Given the description of an element on the screen output the (x, y) to click on. 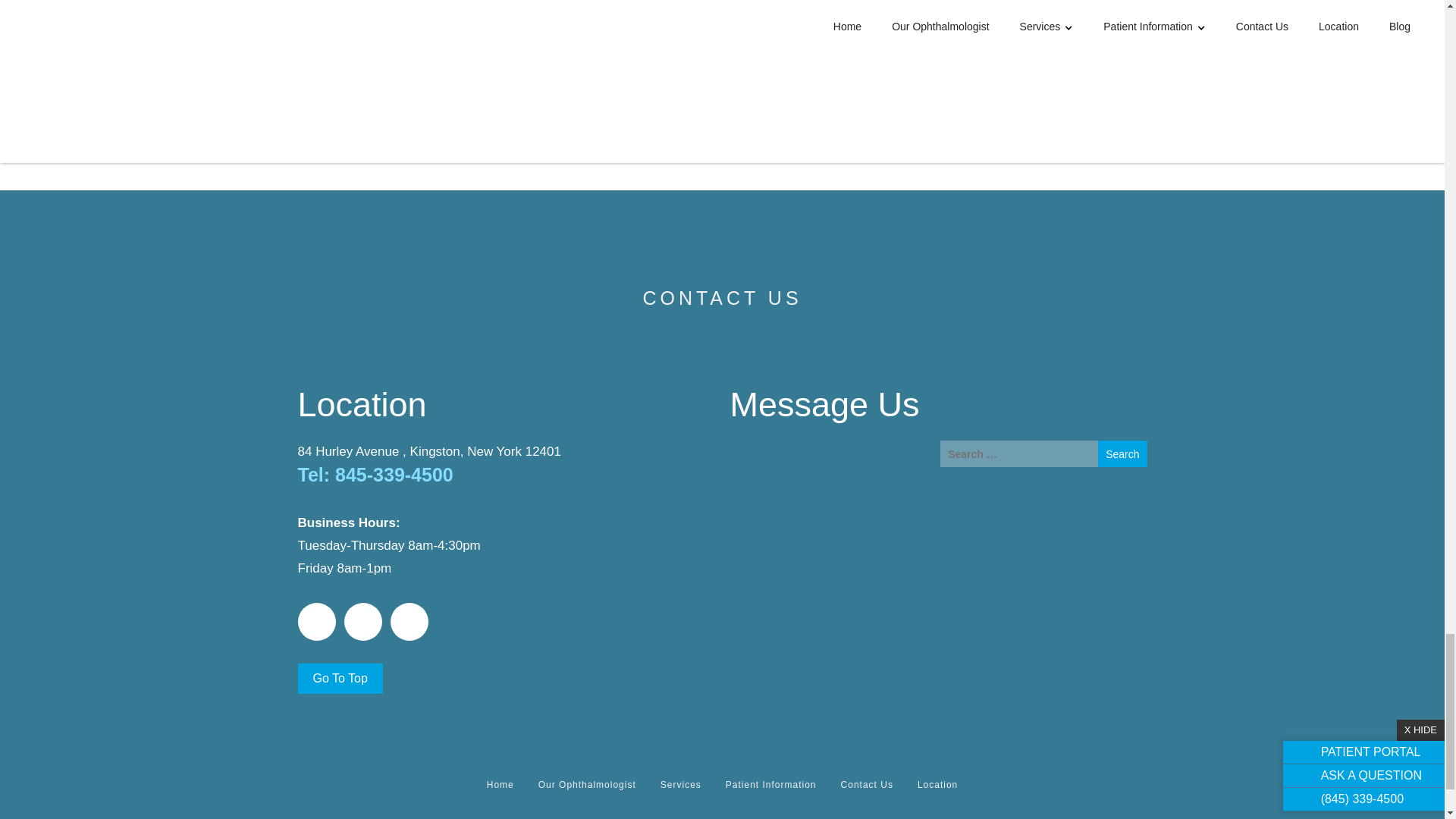
Schedule an appointment (368, 51)
Search (1122, 453)
Search (1122, 453)
